Given the description of an element on the screen output the (x, y) to click on. 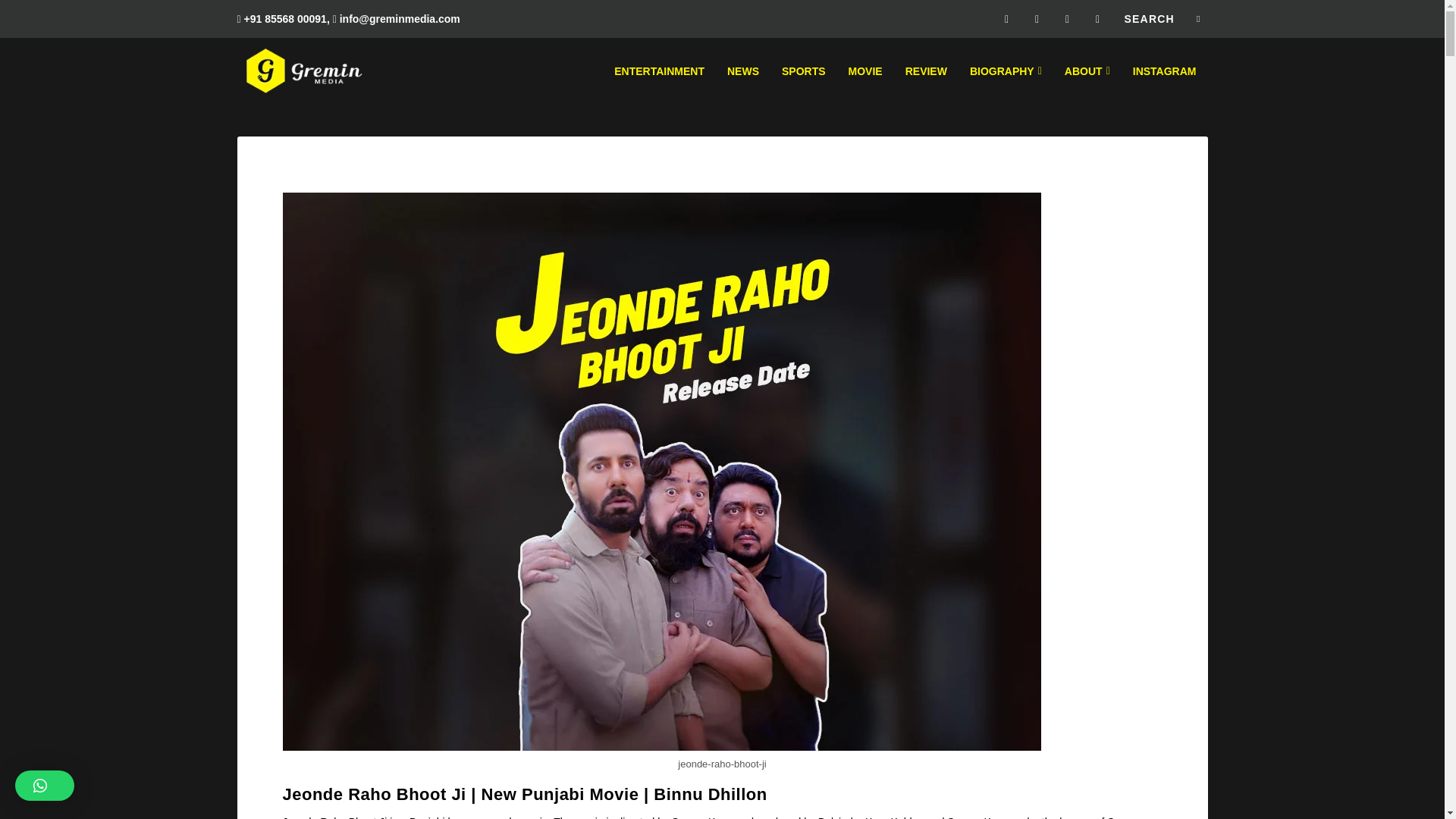
ABOUT (1086, 85)
REVIEW (926, 85)
Search for: (1161, 18)
SPORTS (803, 85)
BIOGRAPHY (1005, 85)
INSTAGRAM (1164, 85)
ENTERTAINMENT (659, 85)
